Given the description of an element on the screen output the (x, y) to click on. 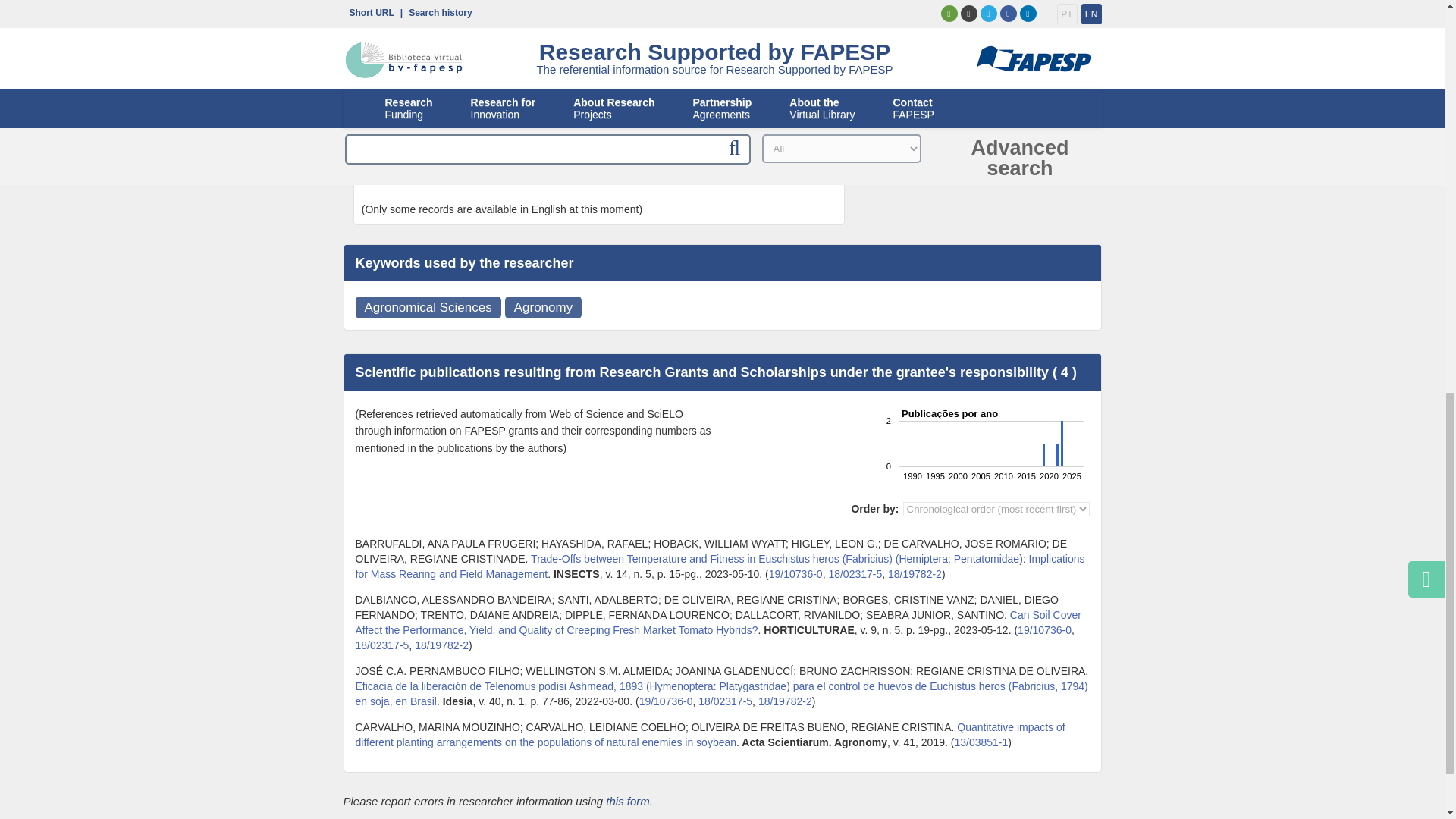
Number of FAPESP process (1044, 630)
Number of FAPESP process (980, 742)
Number of FAPESP process (382, 645)
Number of FAPESP process (915, 573)
Number of FAPESP process (795, 573)
Number of FAPESP process (725, 701)
Number of FAPESP process (441, 645)
Number of FAPESP process (666, 701)
Number of FAPESP process (785, 701)
Number of FAPESP process (855, 573)
